Given the description of an element on the screen output the (x, y) to click on. 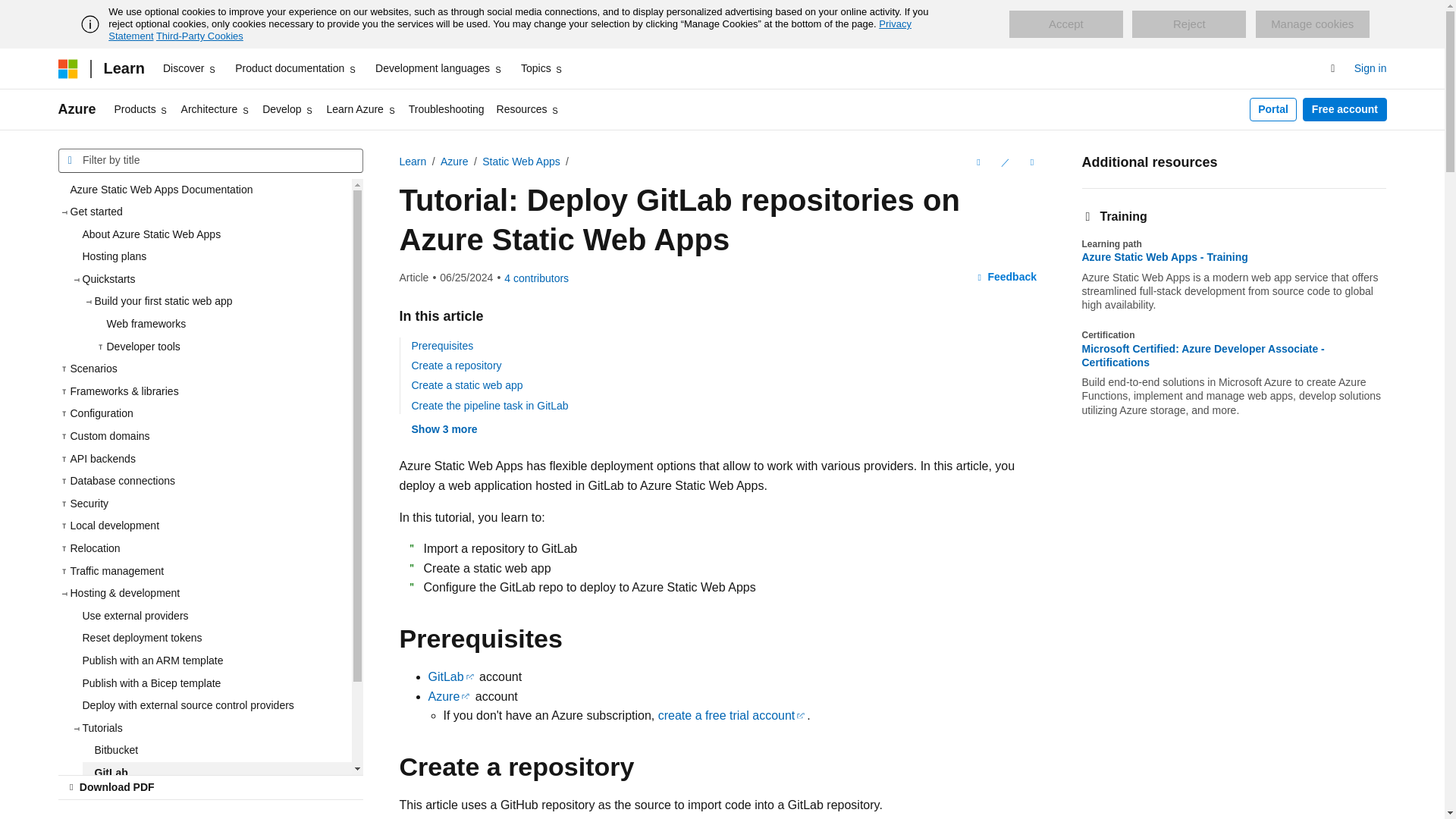
Products (140, 109)
Accept (1065, 23)
Skip to main content (11, 11)
Edit This Document (1004, 161)
View all contributors (536, 277)
More actions (1031, 161)
Development languages (438, 68)
Topics (542, 68)
Privacy Statement (509, 29)
Product documentation (295, 68)
